Given the description of an element on the screen output the (x, y) to click on. 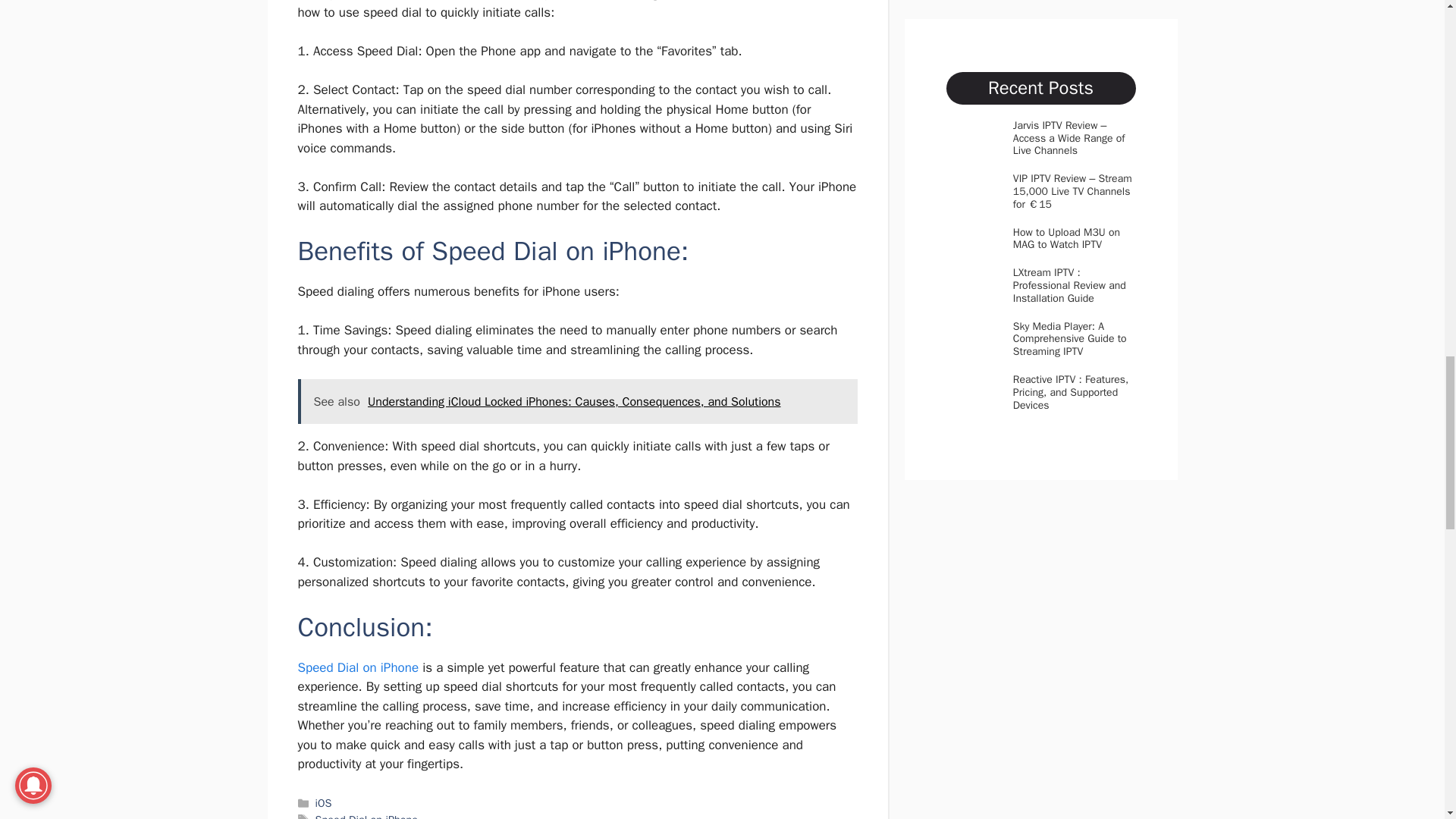
iOS (323, 802)
Speed Dial on iPhone (367, 816)
Speed Dial on iPhone (358, 667)
